Given the description of an element on the screen output the (x, y) to click on. 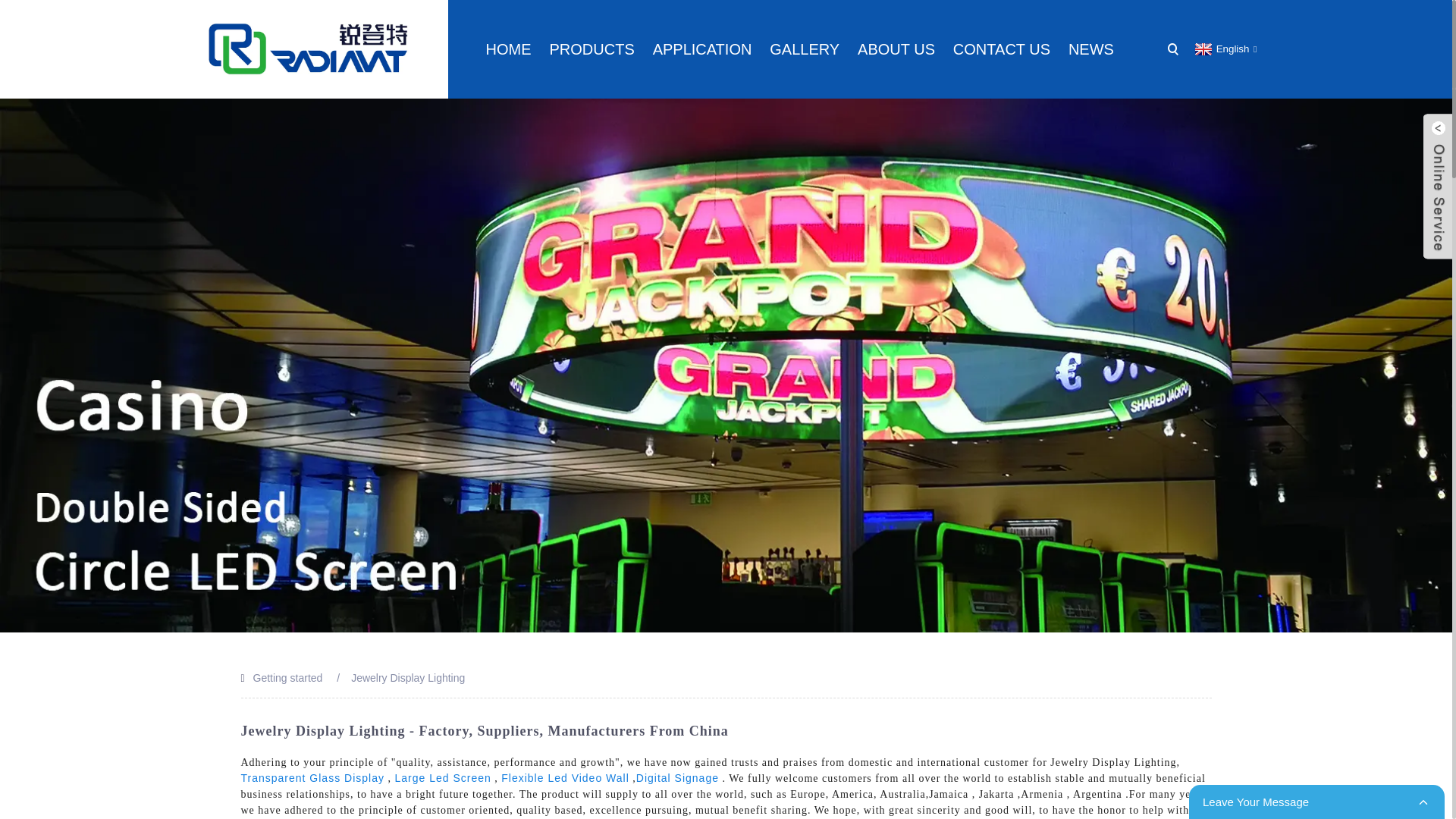
Large Led Screen (442, 777)
CONTACT US (1001, 49)
English (1224, 48)
Transparent Glass Display (312, 777)
Digital Signage (677, 777)
APPLICATION (702, 49)
Flexible Led Video Wall (564, 777)
